Given the description of an element on the screen output the (x, y) to click on. 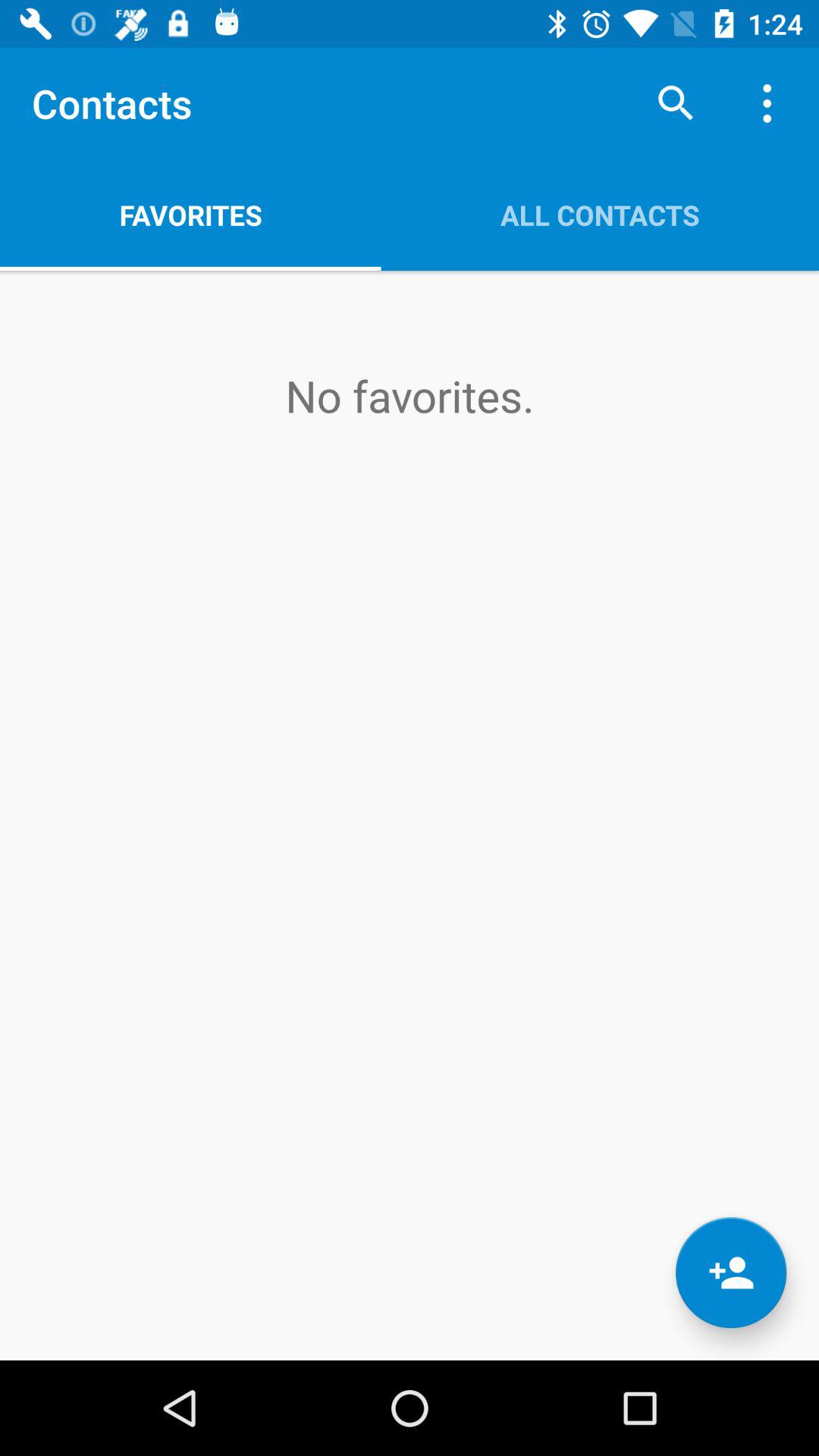
turn on the all contacts app (600, 214)
